Given the description of an element on the screen output the (x, y) to click on. 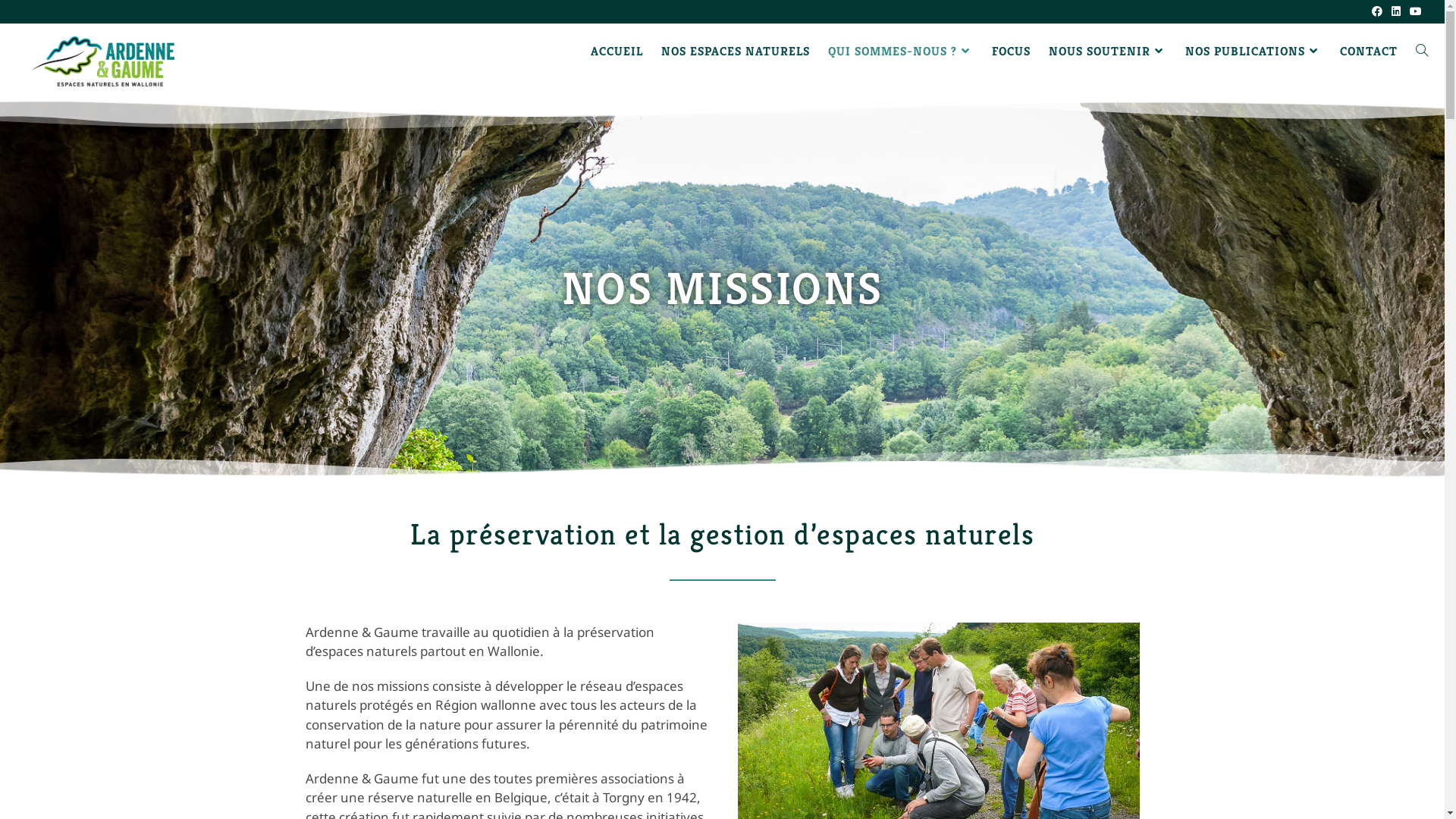
NOS PUBLICATIONS Element type: text (1253, 51)
NOUS SOUTENIR Element type: text (1107, 51)
ACCUEIL Element type: text (616, 51)
CONTACT Element type: text (1368, 51)
QUI SOMMES-NOUS ? Element type: text (900, 51)
FOCUS Element type: text (1010, 51)
NOS ESPACES NATURELS Element type: text (735, 51)
